Given the description of an element on the screen output the (x, y) to click on. 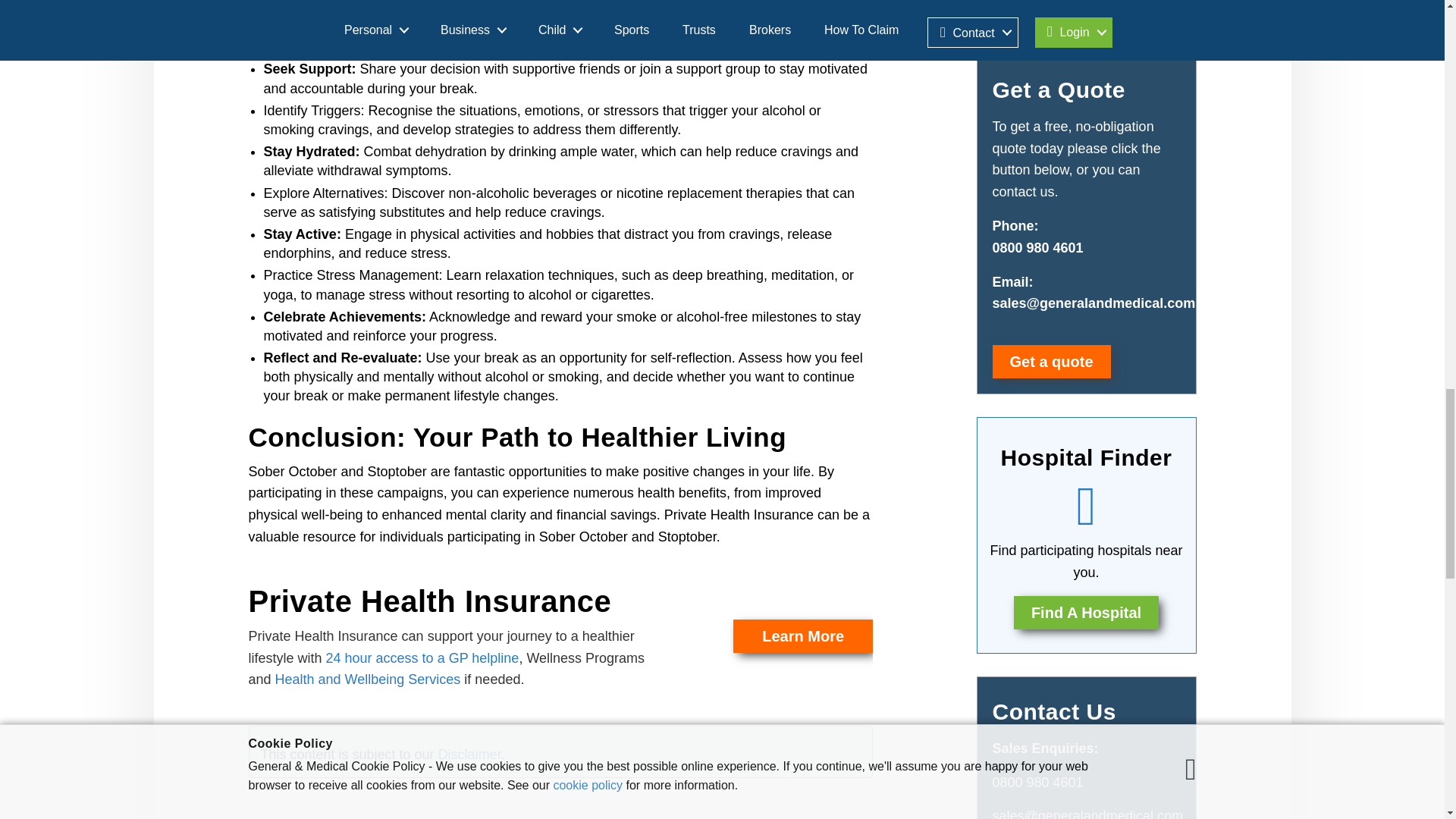
Newer (845, 817)
Older (275, 817)
Disclaimer (469, 754)
Health and Wellbeing (368, 679)
24 Hour GP (422, 657)
All posts (560, 817)
